Given the description of an element on the screen output the (x, y) to click on. 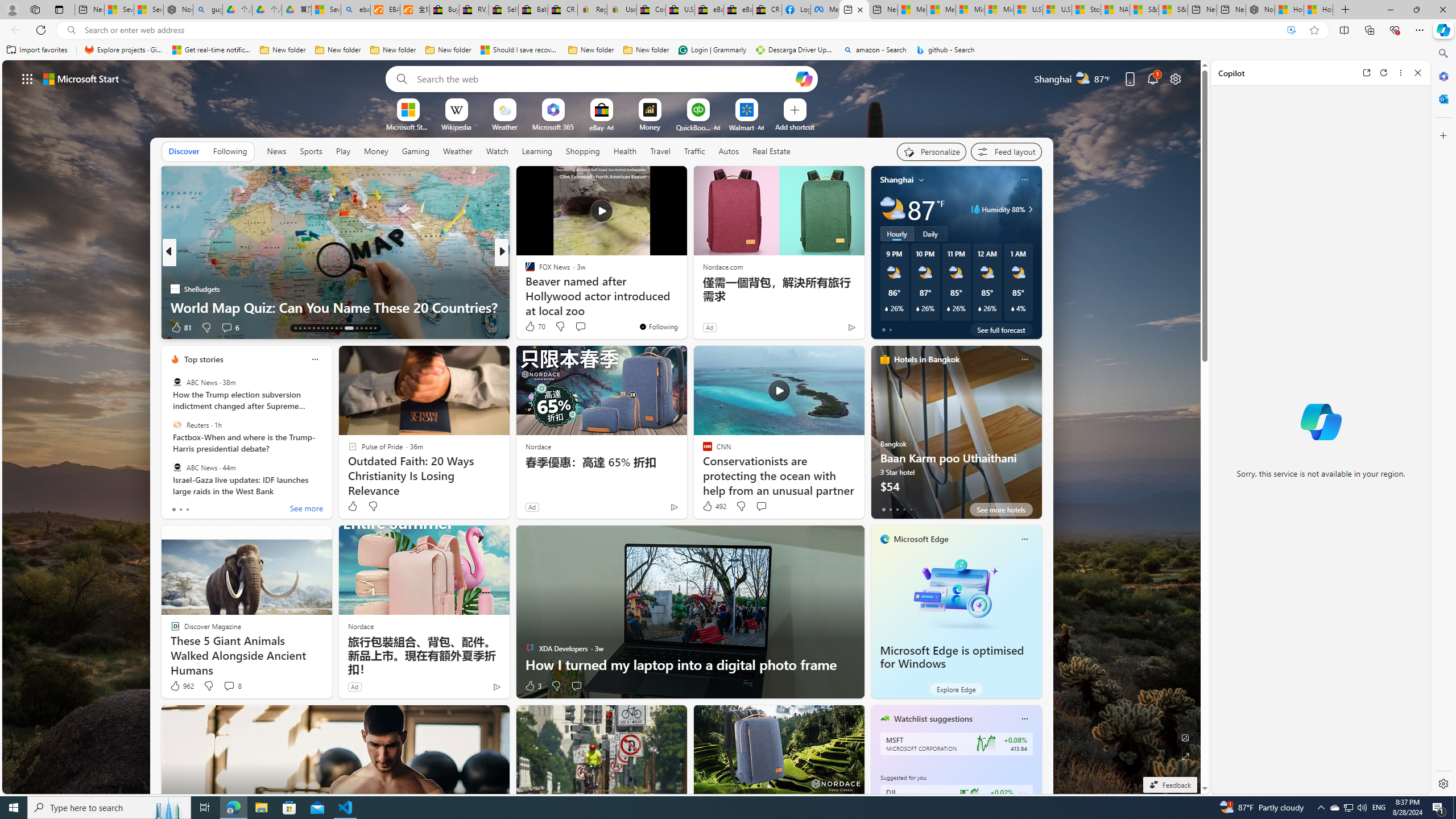
Buy Auto Parts & Accessories | eBay (444, 9)
Browser essentials (1394, 29)
AutomationID: tab-25 (356, 328)
SlashGear (524, 288)
Add this page to favorites (Ctrl+D) (1314, 29)
Customize (1442, 135)
Health (624, 151)
World Map Quiz: Can You Name These 20 Countries? (335, 307)
Close (1417, 72)
492 Like (713, 505)
Microsoft 365 (553, 126)
